Given the description of an element on the screen output the (x, y) to click on. 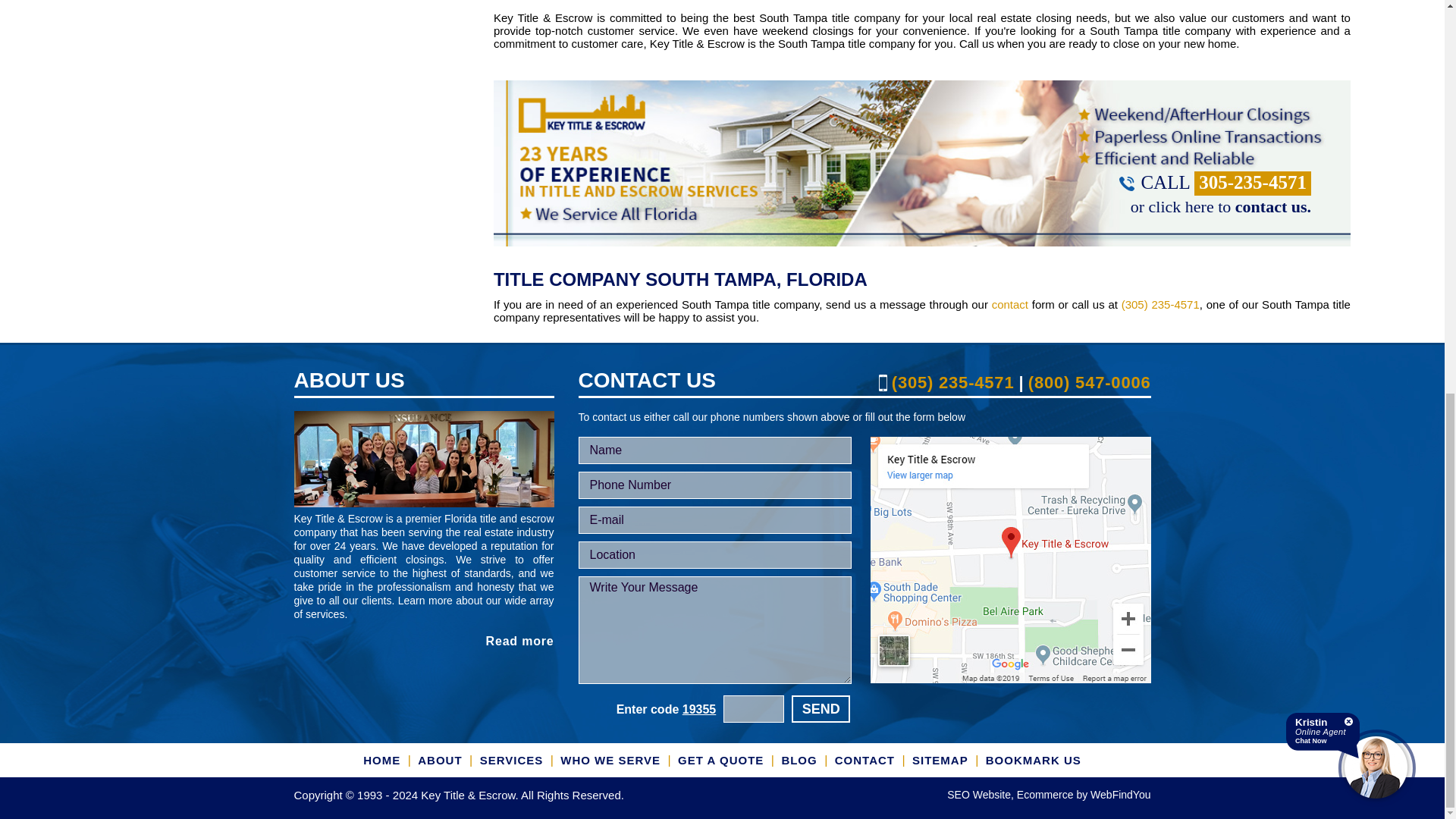
Send (821, 708)
